Given the description of an element on the screen output the (x, y) to click on. 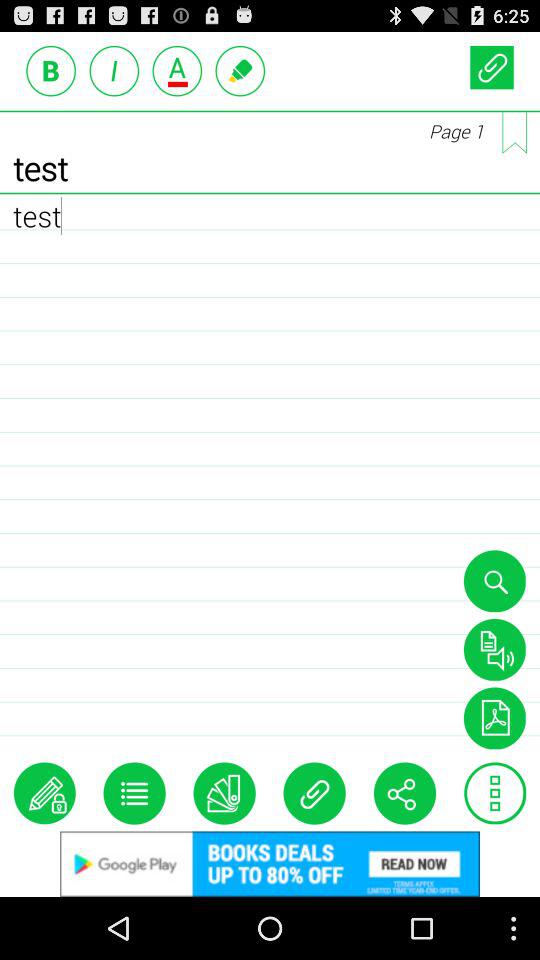
link adobe media (494, 718)
